Given the description of an element on the screen output the (x, y) to click on. 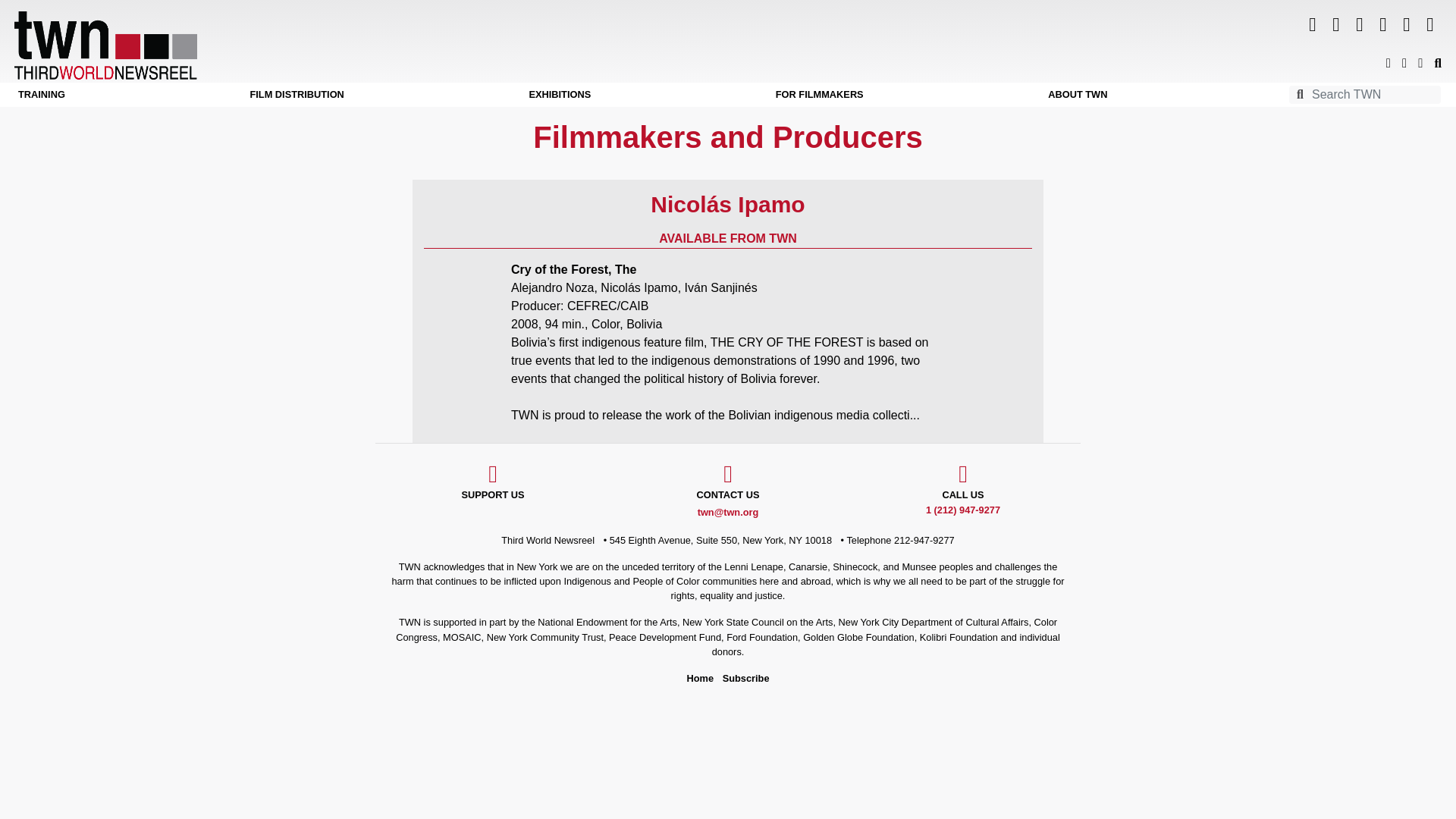
Support TWN (492, 486)
Contact TWN (727, 486)
TRAINING (41, 93)
FILM DISTRIBUTION (296, 93)
FOR FILMMAKERS (819, 93)
EXHIBITIONS (559, 93)
